Given the description of an element on the screen output the (x, y) to click on. 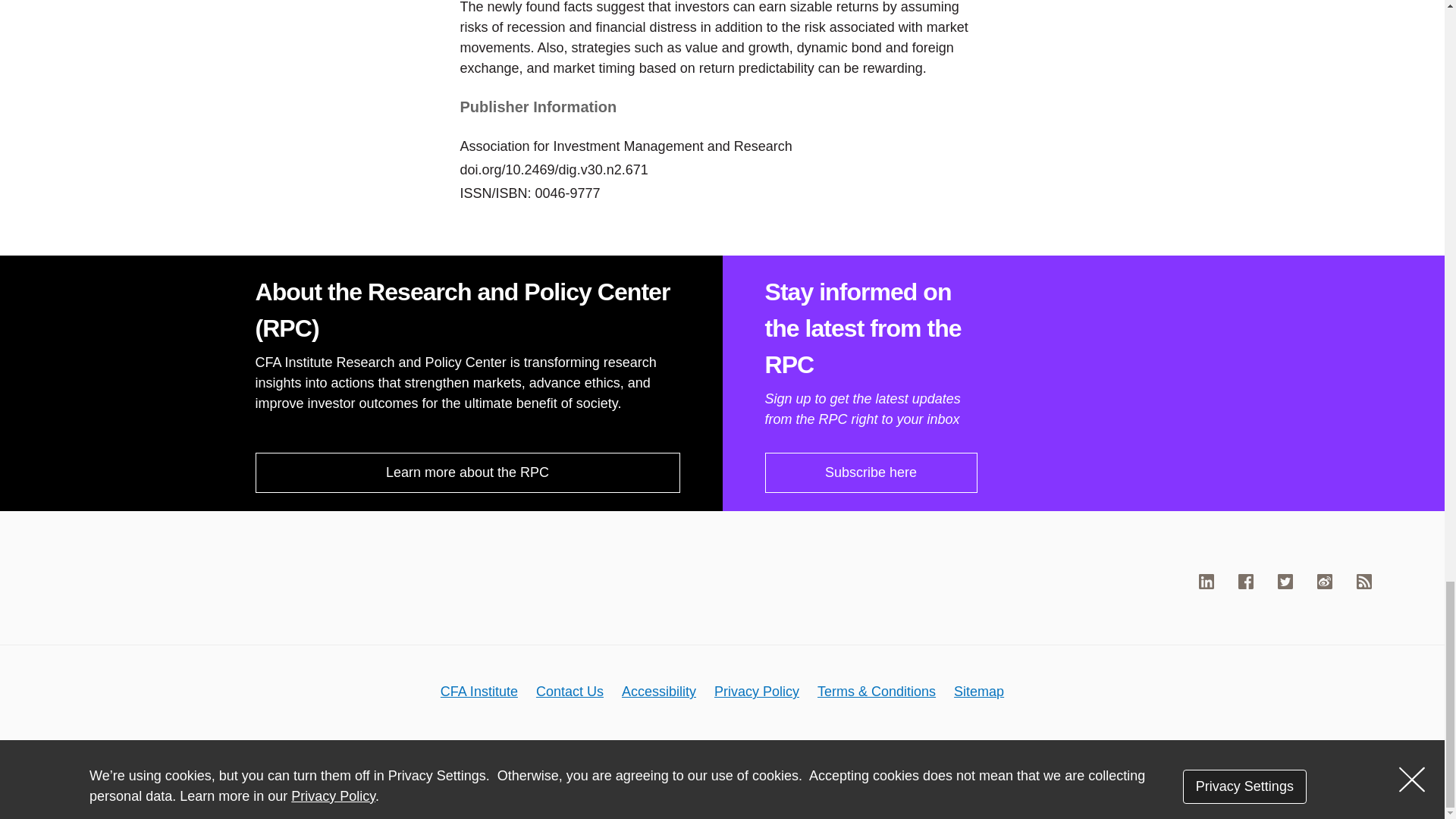
Privacy Policy (756, 691)
Twitter Page (1285, 581)
Linkedin Page (1206, 581)
Sitemap (978, 691)
Weibo Page (1324, 581)
Facebook Page (1246, 581)
CFA Institute Research and Policy Center RSS (1363, 581)
Terms and Conditions (876, 691)
